Given the description of an element on the screen output the (x, y) to click on. 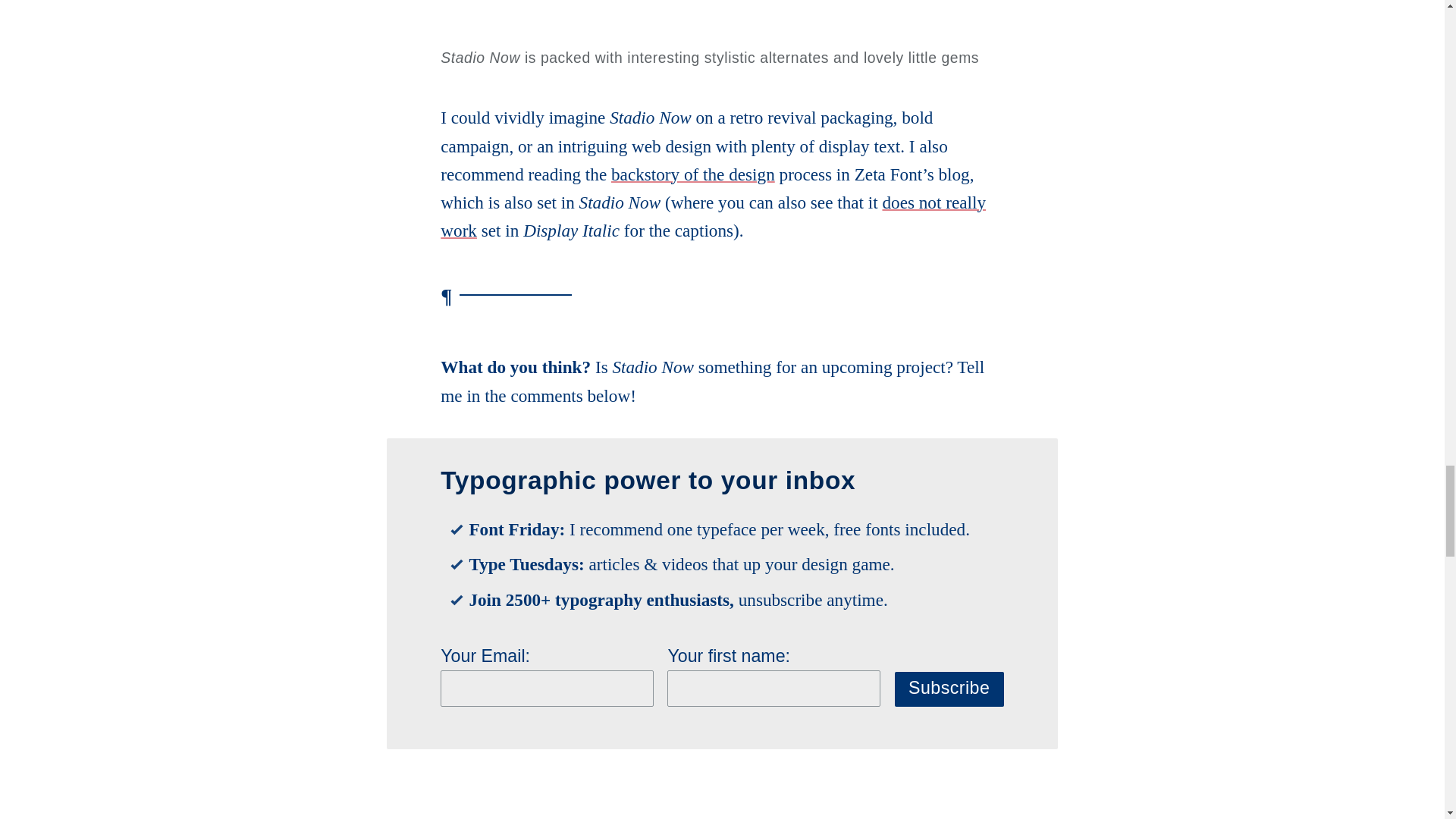
Subscribe (949, 688)
of the design (726, 174)
does not really work (713, 216)
backstory (645, 174)
Subscribe (949, 688)
